Given the description of an element on the screen output the (x, y) to click on. 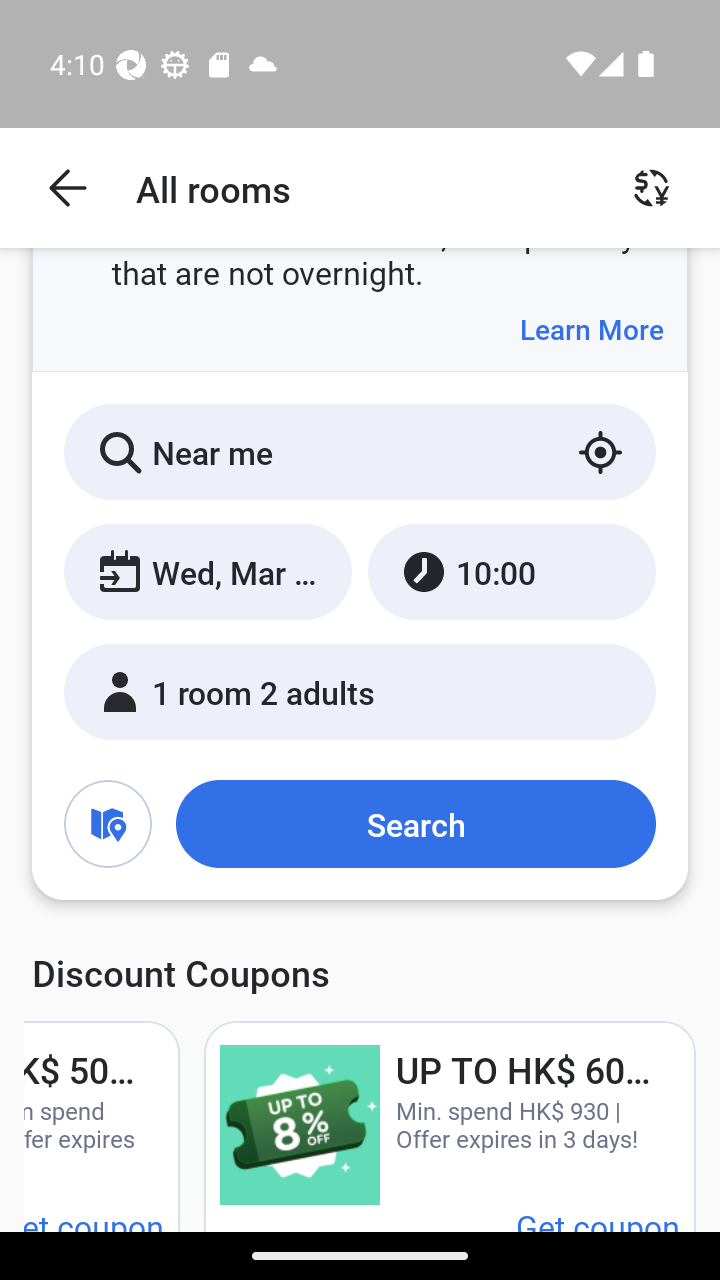
Learn More (591, 329)
Near me (359, 452)
Wed, Mar 13 (208, 571)
10:00 (511, 571)
1 room 2 adults (359, 691)
Search (415, 823)
